Given the description of an element on the screen output the (x, y) to click on. 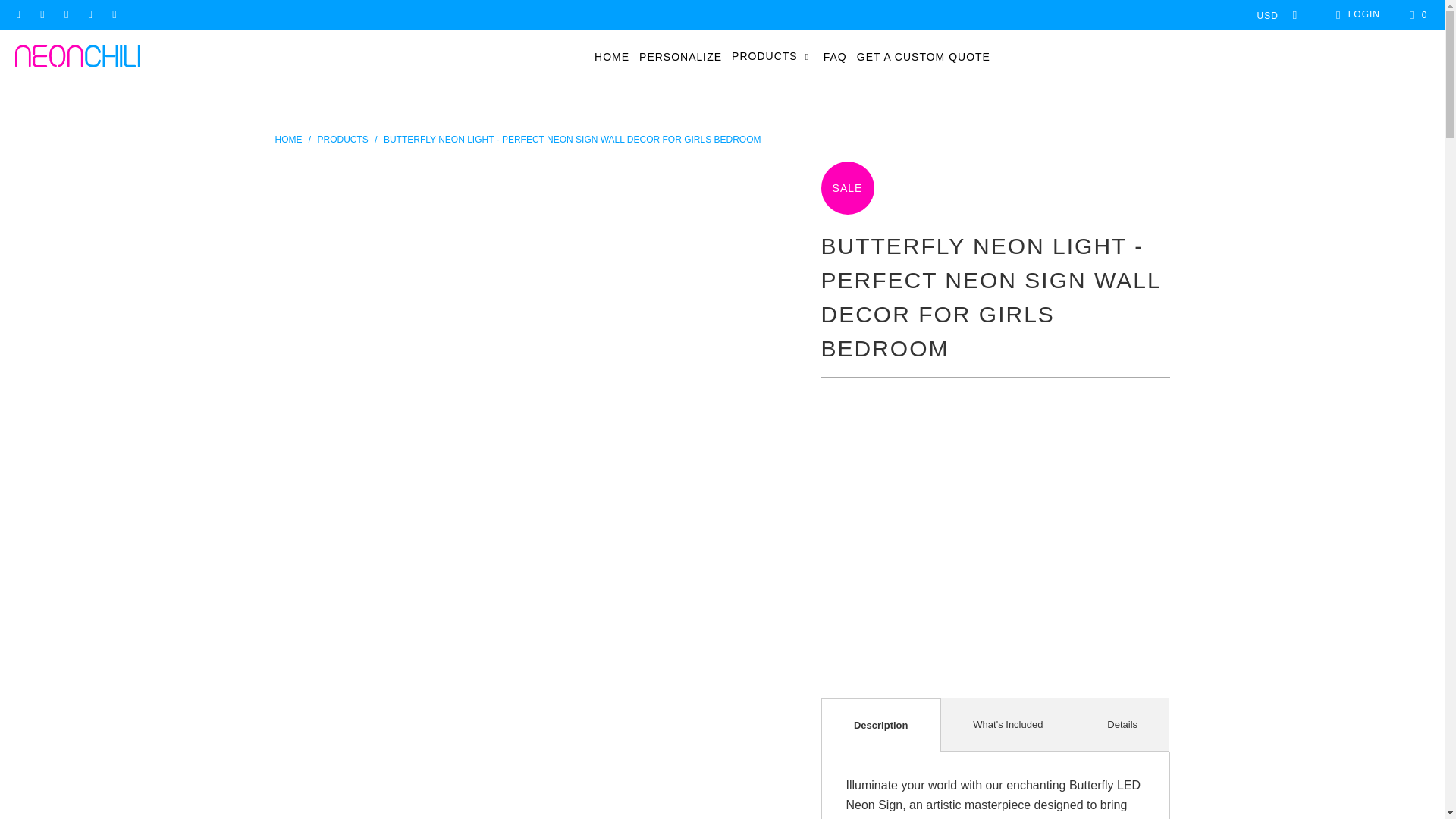
NeonChili (288, 139)
NeonChili on TikTok (89, 14)
NeonChili on Pinterest (65, 14)
LOGIN (1355, 14)
NeonChili on Facebook (17, 14)
My Account  (1355, 14)
NeonChili (76, 57)
USD (1272, 15)
NeonChili on Instagram (41, 14)
Products (342, 139)
